Given the description of an element on the screen output the (x, y) to click on. 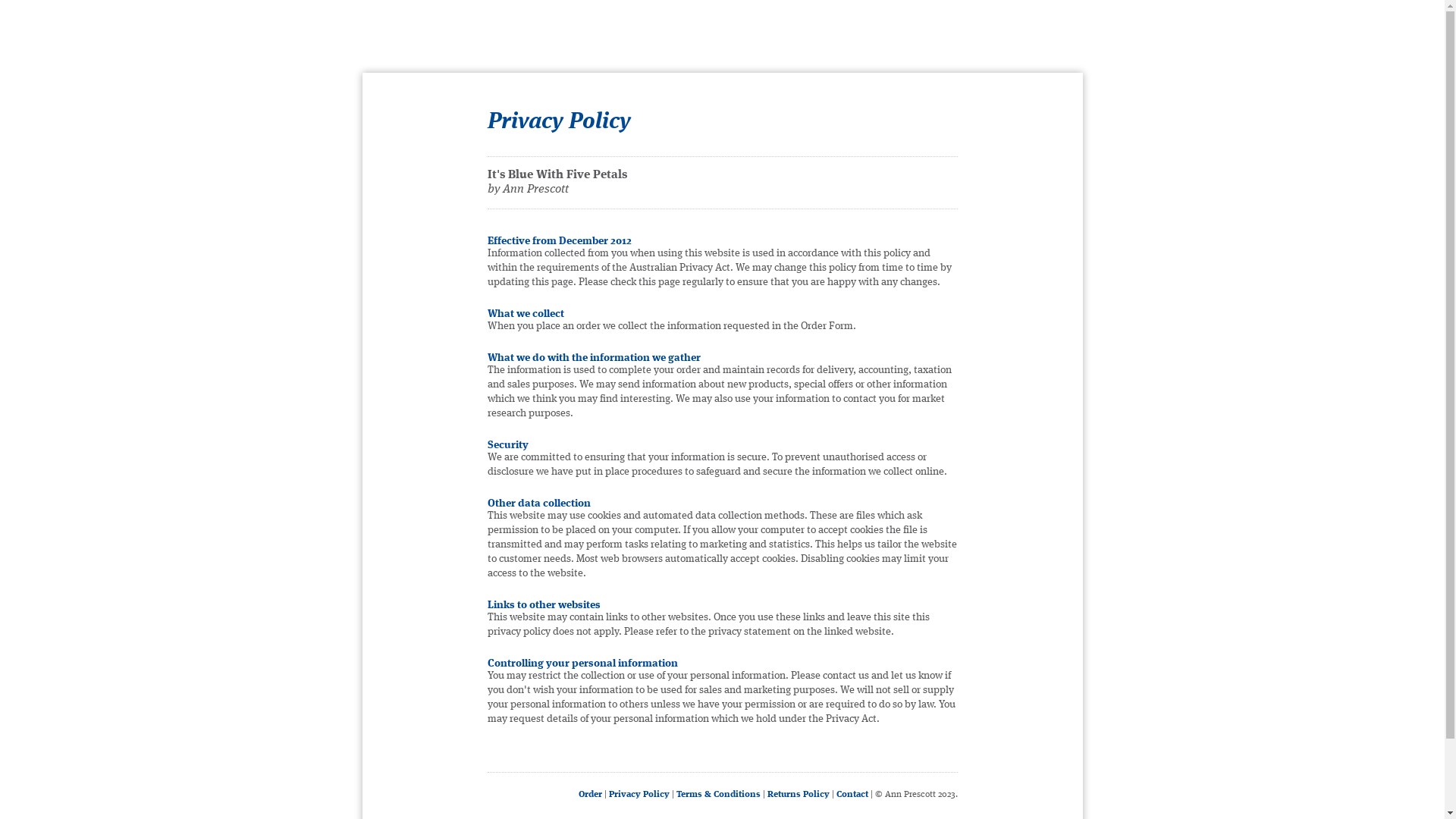
Terms & Conditions Element type: text (718, 794)
Order Element type: text (589, 794)
Privacy Policy Element type: text (638, 794)
Contact Element type: text (851, 794)
Returns Policy Element type: text (798, 794)
